Given the description of an element on the screen output the (x, y) to click on. 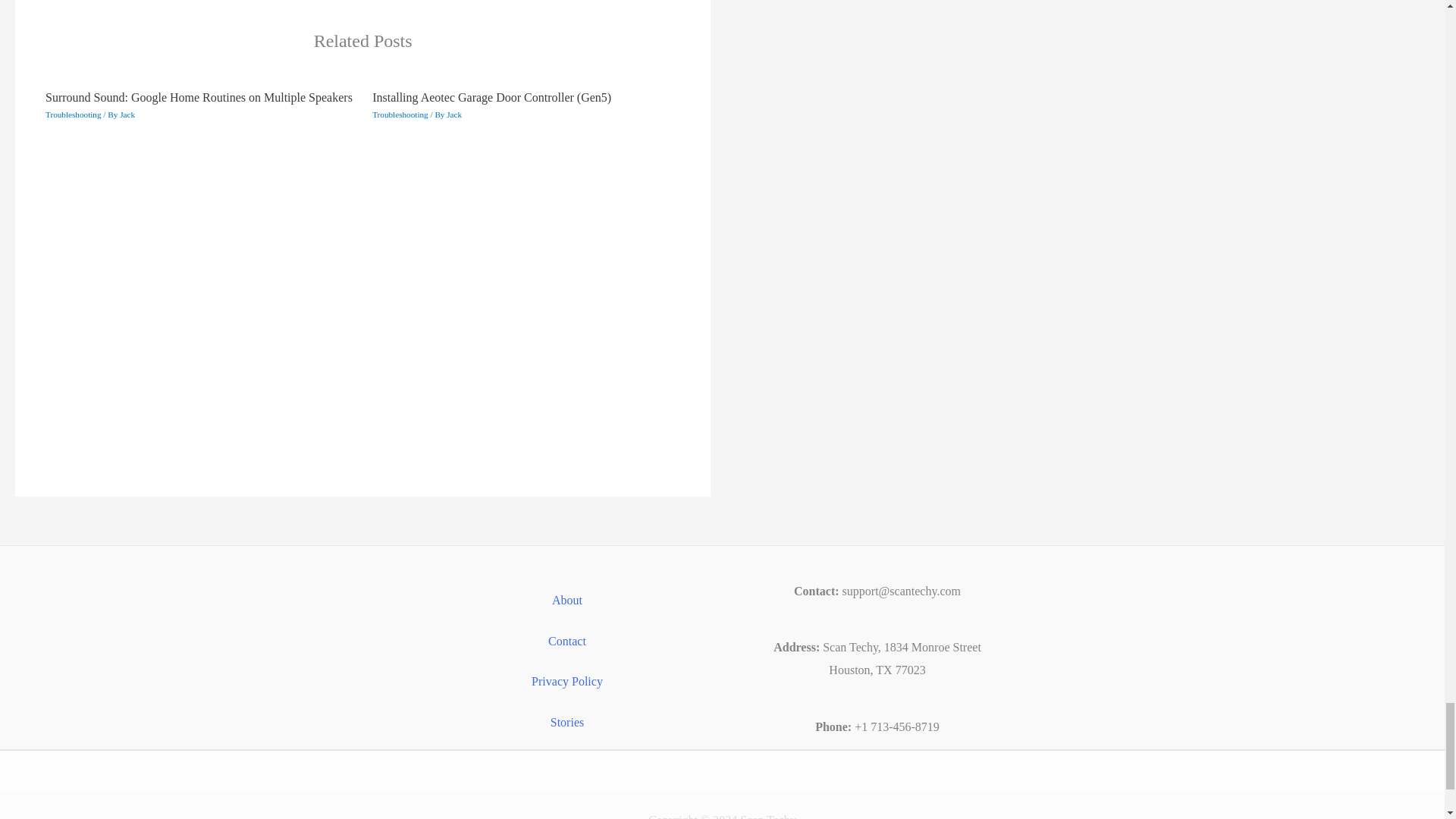
Troubleshooting (73, 113)
Jack (127, 113)
Troubleshooting (400, 113)
Jack (453, 113)
Surround Sound: Google Home Routines on Multiple Speakers (198, 97)
